Given the description of an element on the screen output the (x, y) to click on. 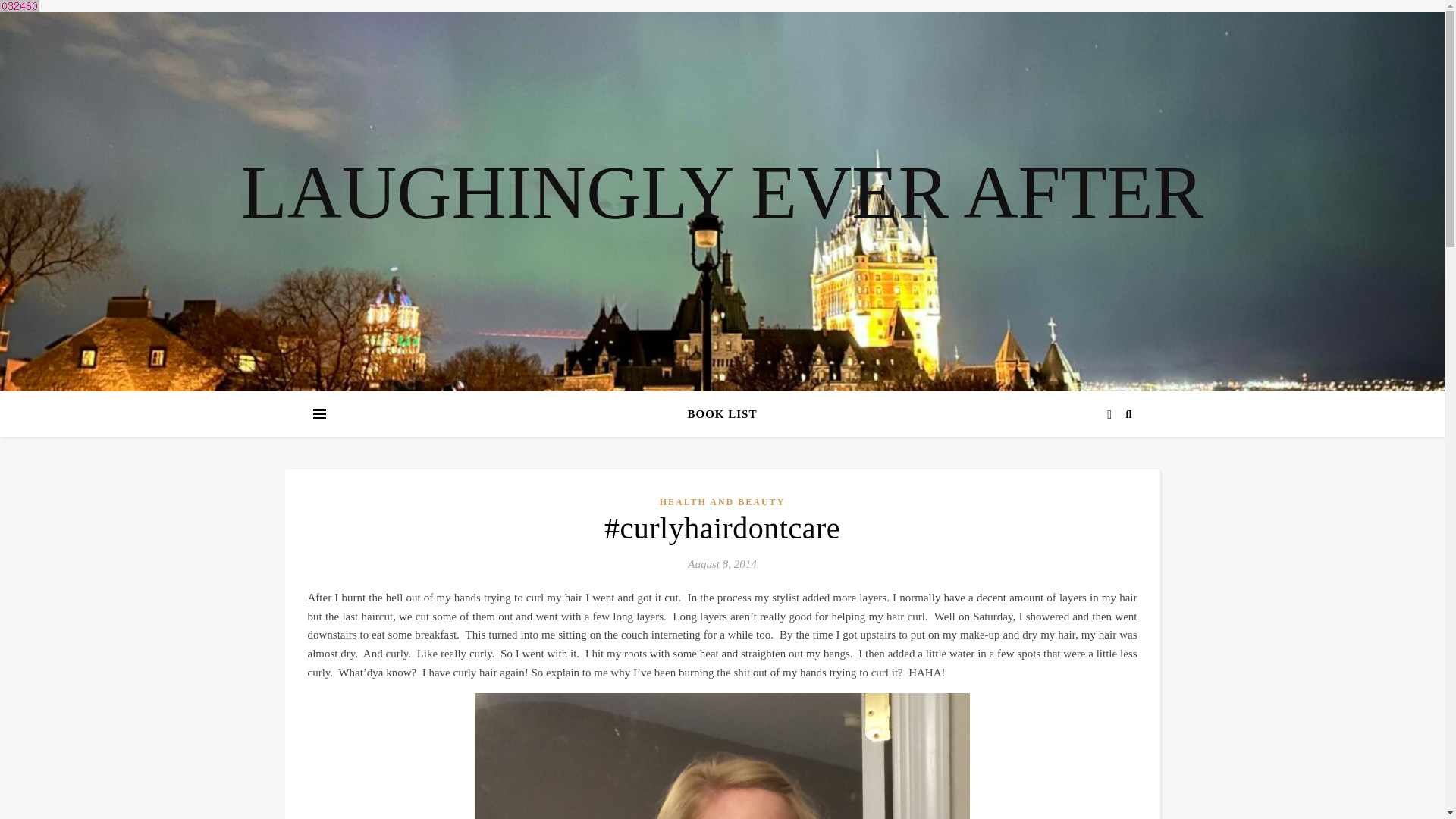
BOOK LIST (722, 413)
HEALTH AND BEAUTY (722, 502)
